Given the description of an element on the screen output the (x, y) to click on. 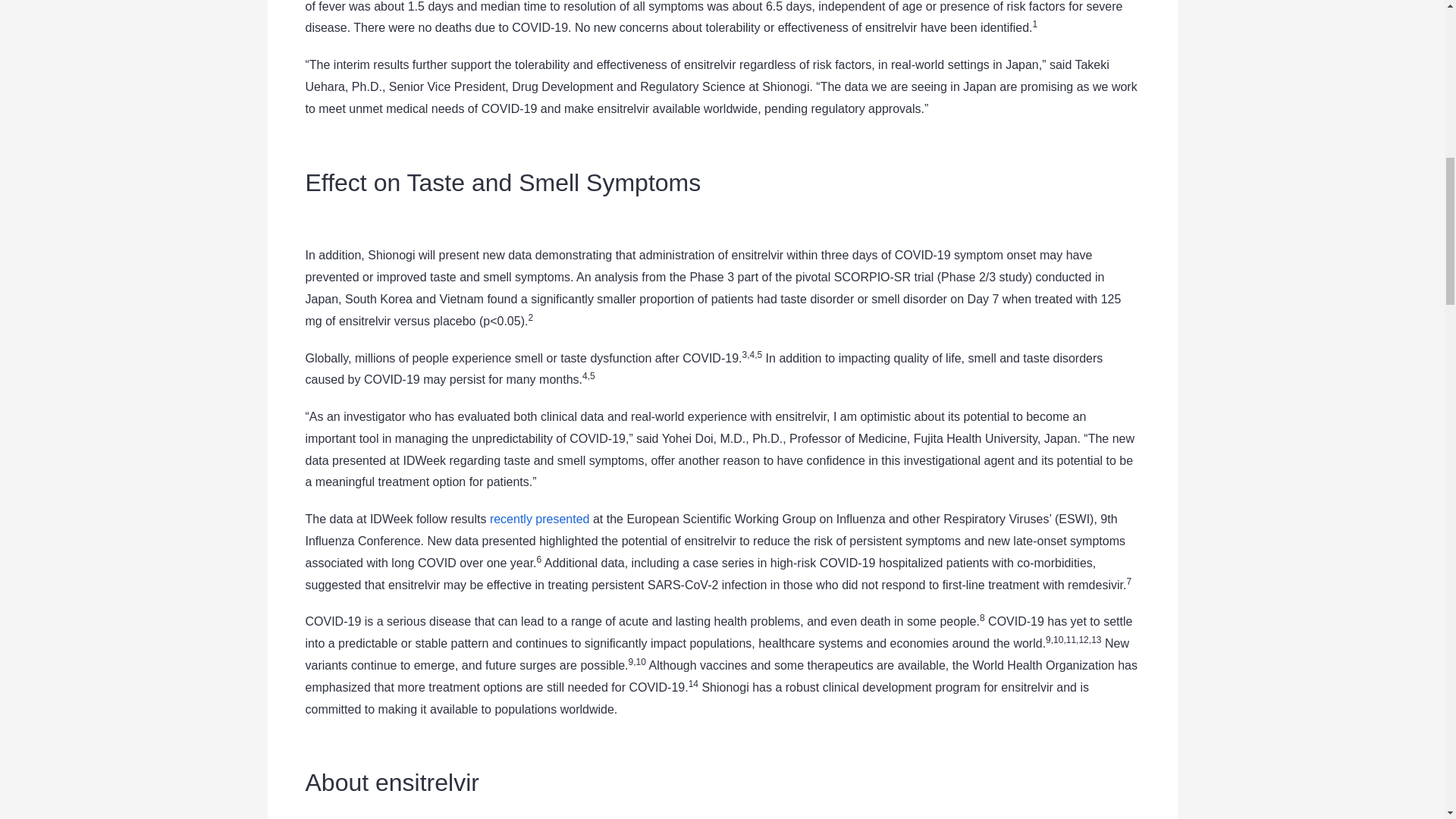
recently presented (539, 518)
